Given the description of an element on the screen output the (x, y) to click on. 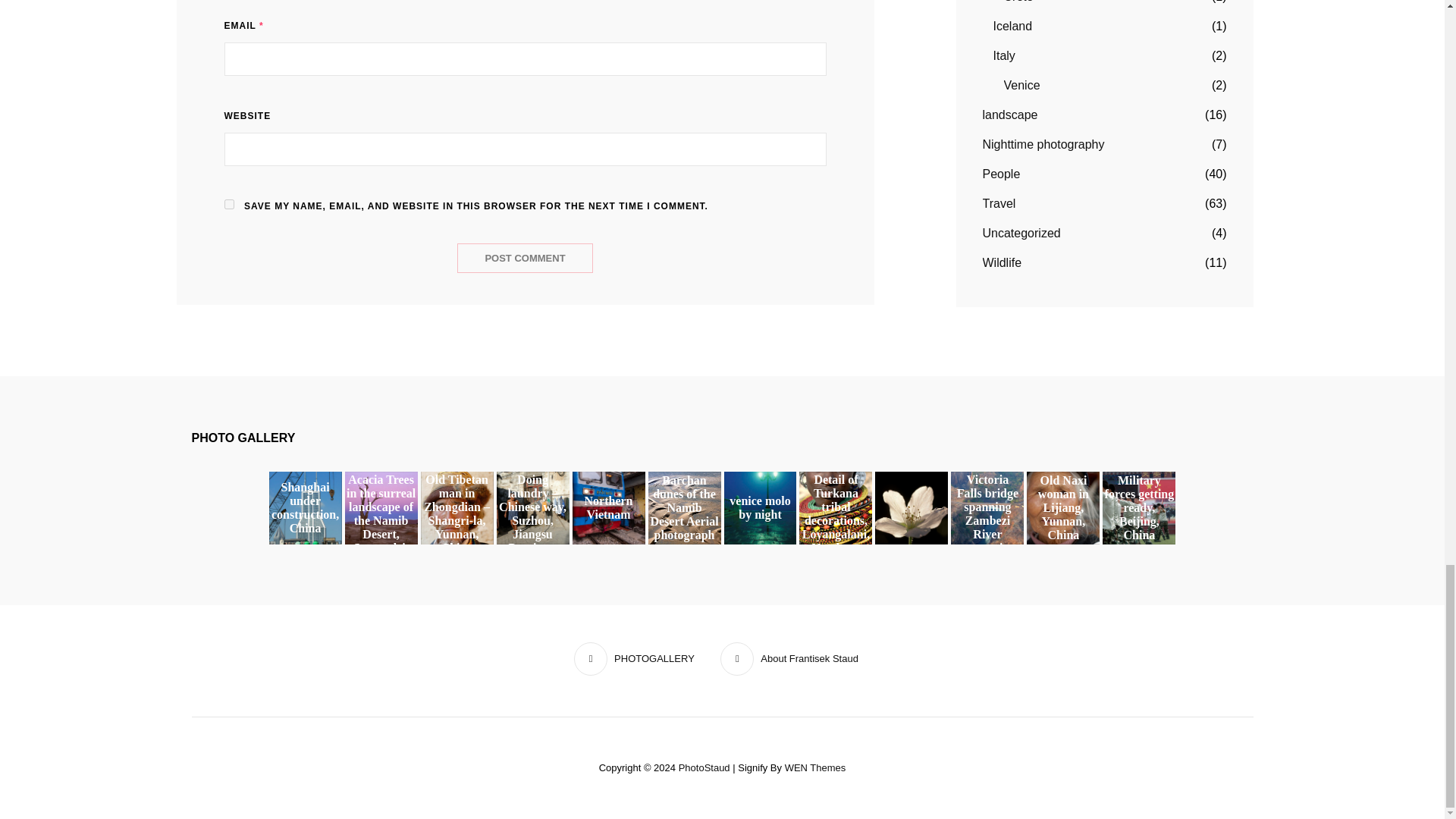
Post Comment (524, 257)
yes (229, 204)
Post Comment (524, 257)
